Given the description of an element on the screen output the (x, y) to click on. 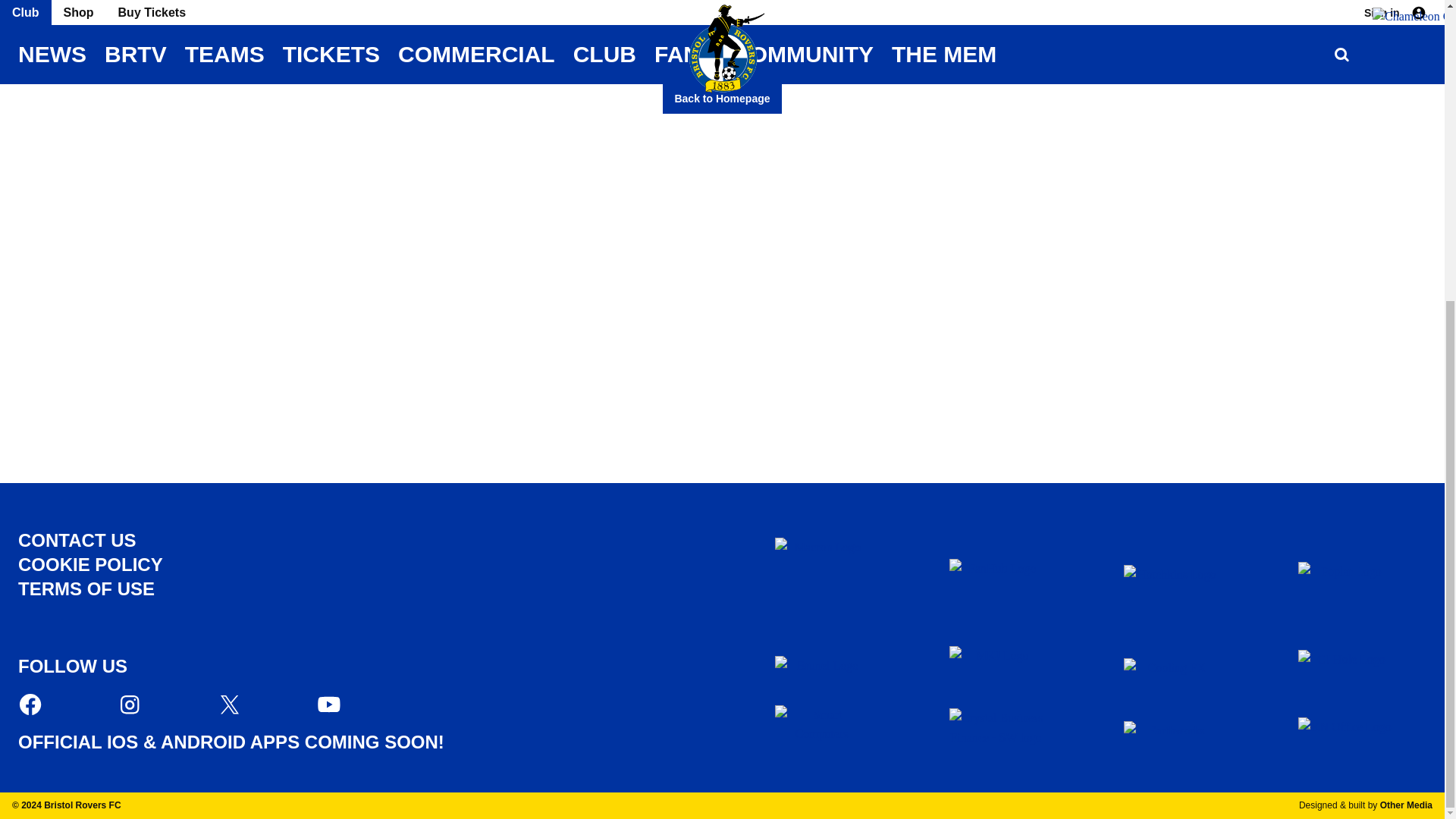
Poplar Insulation (1344, 585)
Fan Hub (996, 584)
Cooling FX (1170, 669)
Hotchkins Group (1170, 585)
Crystal Business Finance (996, 727)
Brunel (821, 669)
KN Office (1344, 727)
CJ Hole (1344, 669)
MKG Group (996, 669)
Earth Works (1170, 727)
